Given the description of an element on the screen output the (x, y) to click on. 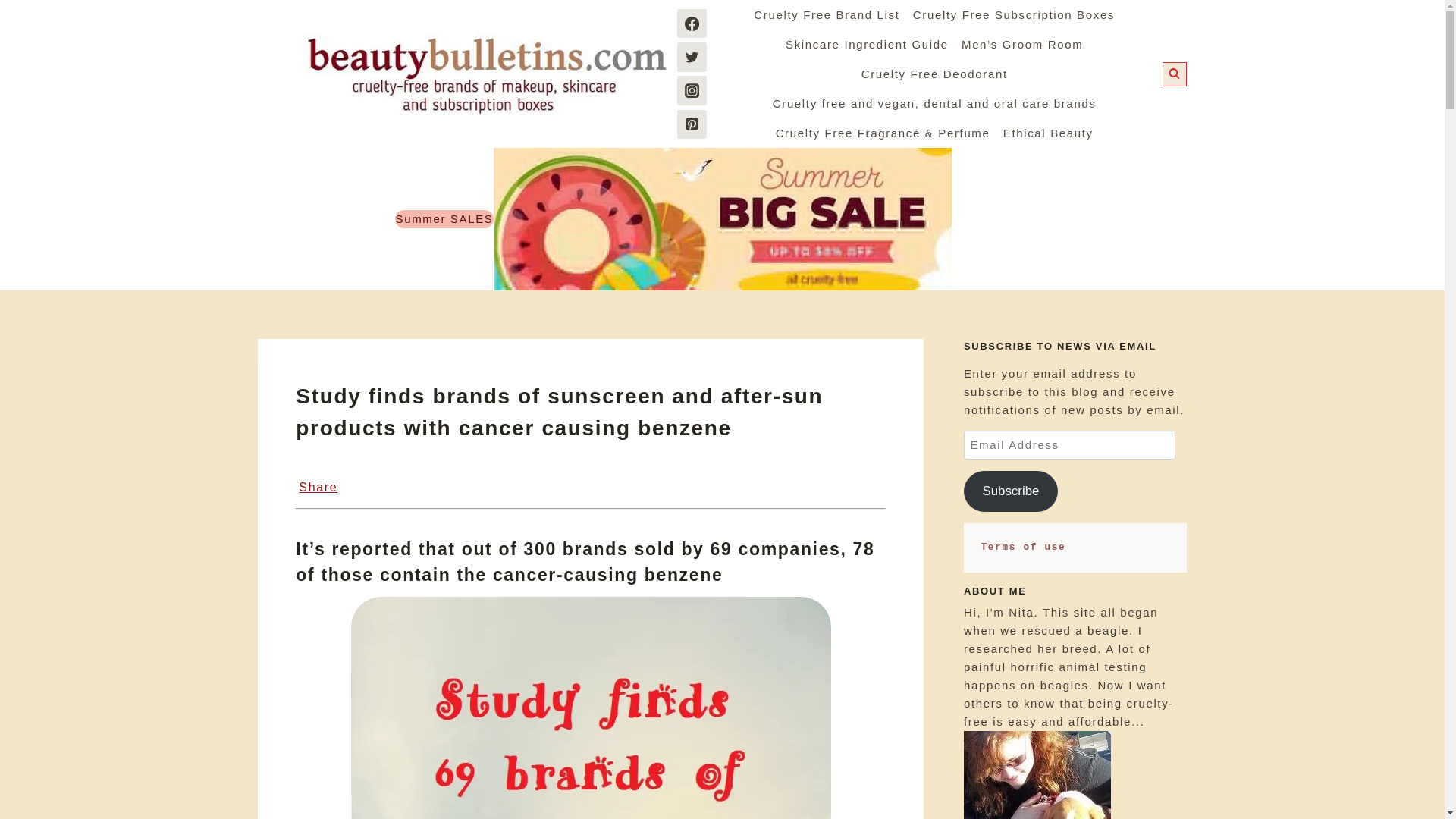
Cruelty Free Brand List (826, 14)
Ethical Beauty (1047, 132)
Skincare Ingredient Guide (866, 43)
Cruelty Free Subscription Boxes (1013, 14)
Summer SALES (443, 218)
Cruelty free and vegan, dental and oral care brands (933, 102)
Cruelty Free Deodorant (933, 73)
